Given the description of an element on the screen output the (x, y) to click on. 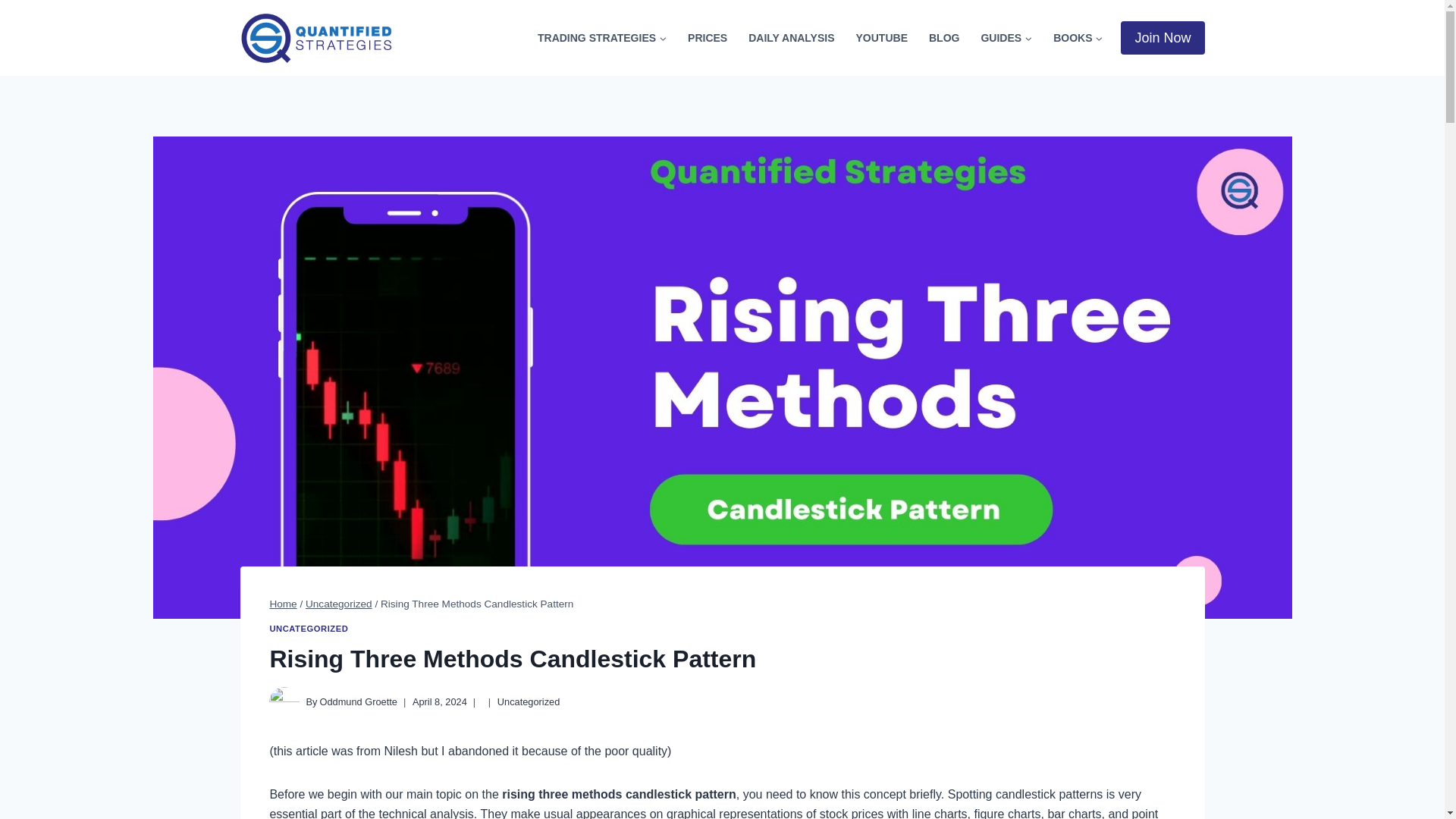
Uncategorized (338, 603)
BLOG (943, 37)
DAILY ANALYSIS (791, 37)
Home (283, 603)
TRADING STRATEGIES (602, 37)
YOUTUBE (881, 37)
GUIDES (1005, 37)
PRICES (707, 37)
BOOKS (1077, 37)
Join Now (1162, 37)
